Given the description of an element on the screen output the (x, y) to click on. 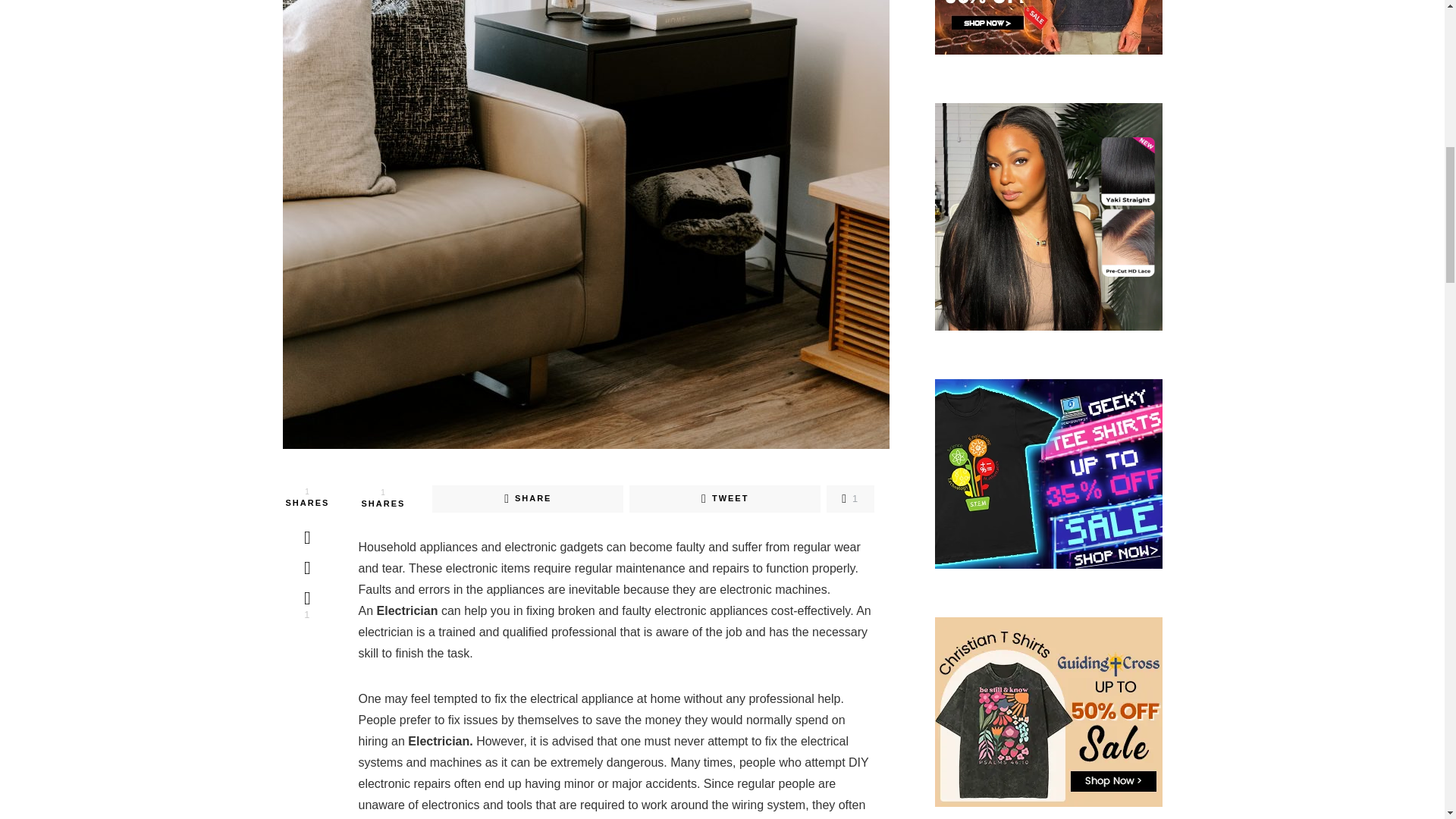
1 (306, 603)
1 (850, 498)
TWEET (724, 498)
SHARE (527, 498)
